Given the description of an element on the screen output the (x, y) to click on. 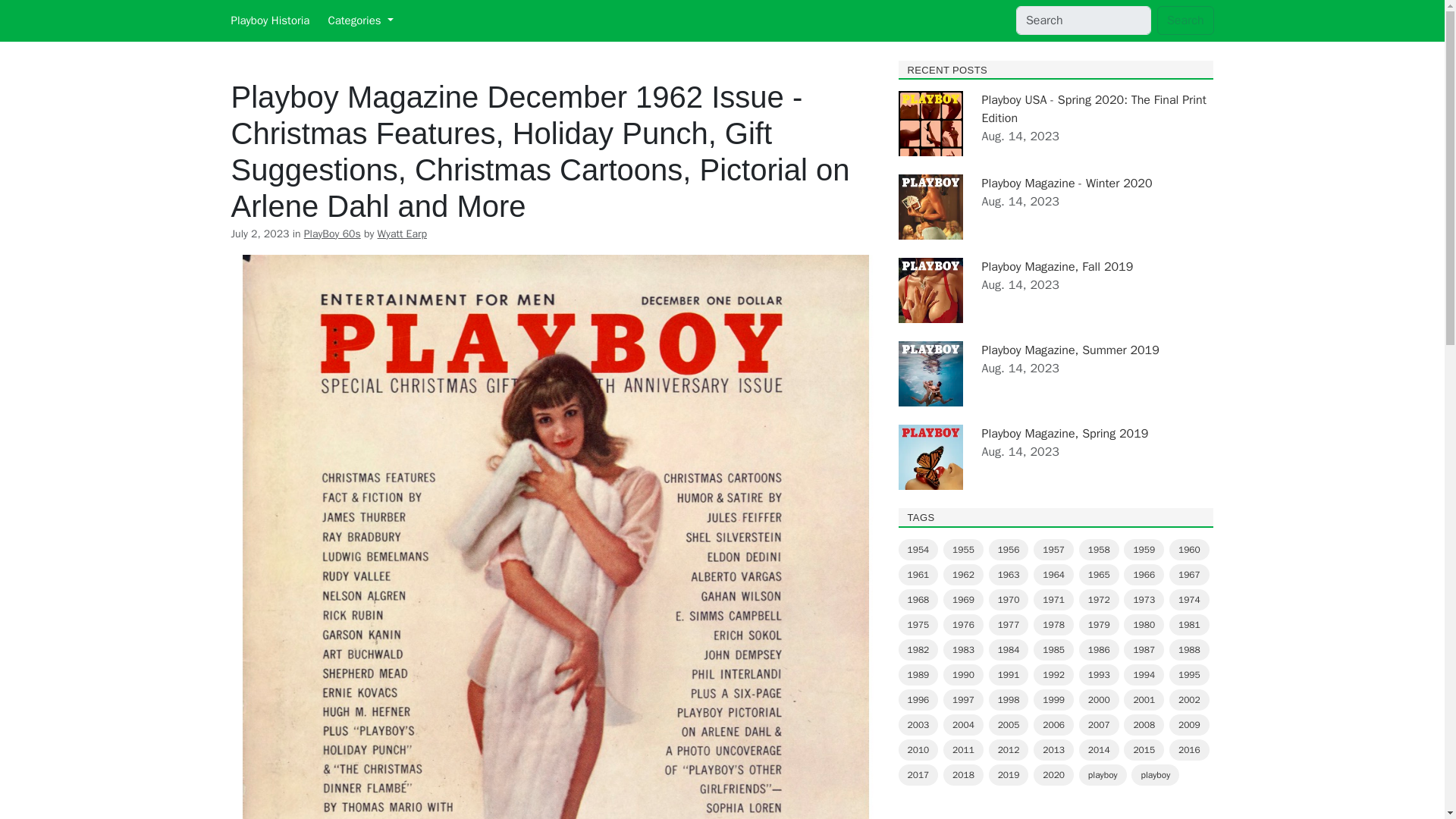
1956 (1008, 549)
1958 (1098, 549)
1954 (917, 549)
1961 (917, 574)
1960 (1189, 549)
Playboy Magazine, Spring 2019 (1064, 433)
Playboy USA - Spring 2020: The Final Print Edition (1093, 109)
1959 (1143, 549)
Search (1185, 20)
PlayBoy 60s (332, 233)
Playboy Magazine, Fall 2019 (1056, 266)
1955 (963, 549)
Playboy Magazine - Winter 2020 (1066, 183)
Playboy Historia (269, 20)
1957 (1053, 549)
